Given the description of an element on the screen output the (x, y) to click on. 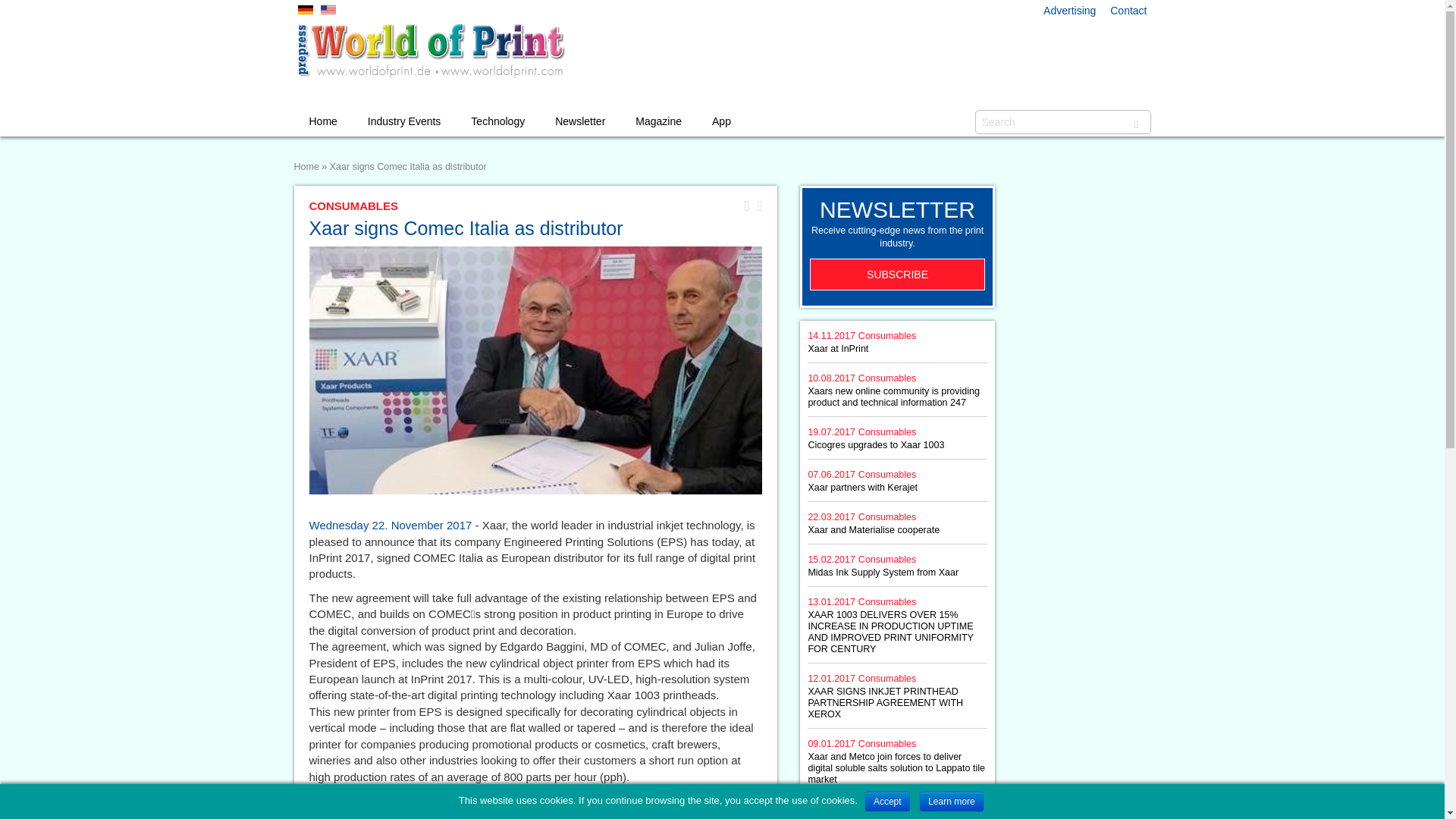
Home (323, 121)
Advertising (1069, 11)
Industry Events (404, 121)
Contact (1128, 11)
